Given the description of an element on the screen output the (x, y) to click on. 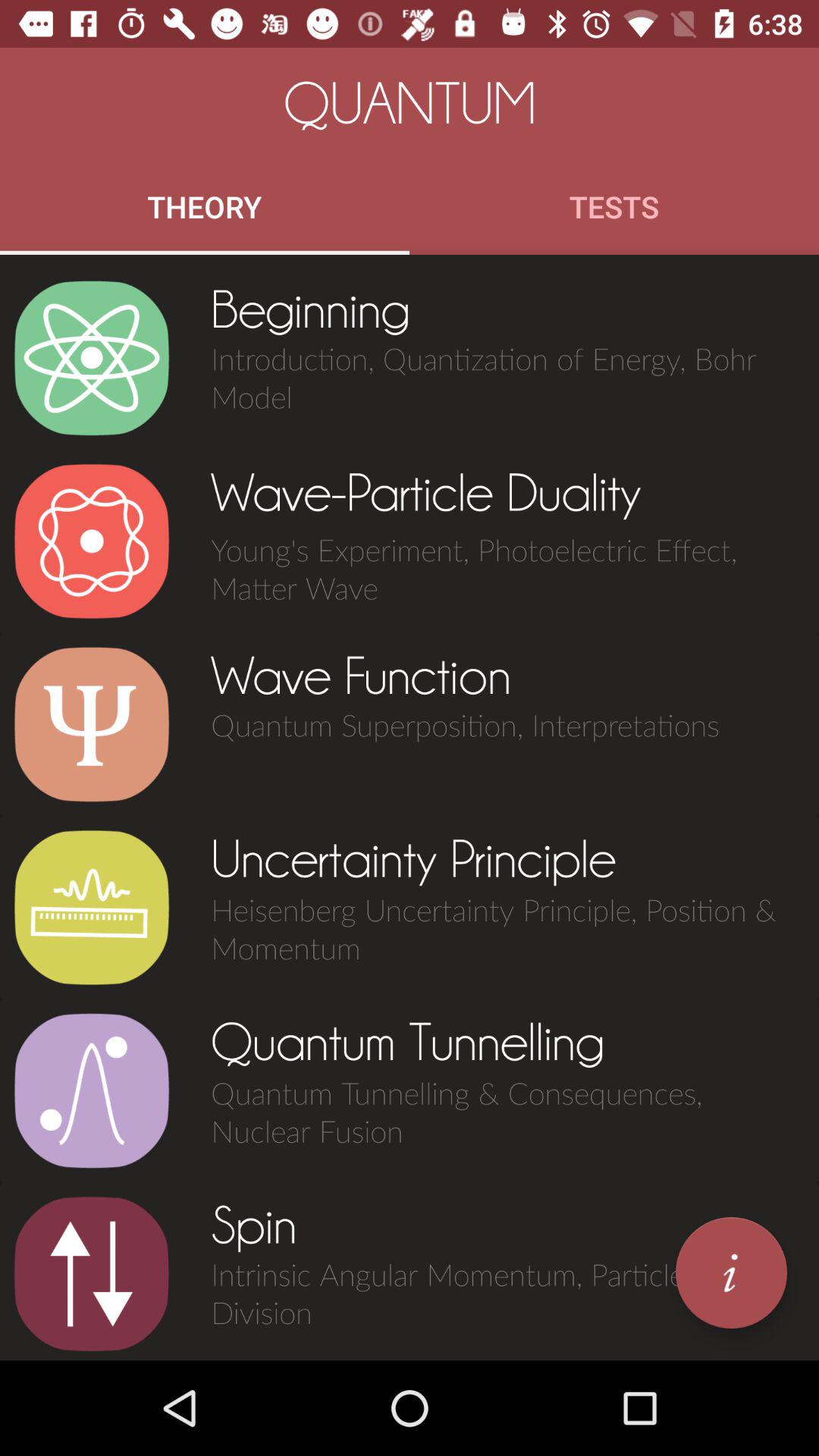
press item to the left of quantum tunnelling (91, 1090)
